Given the description of an element on the screen output the (x, y) to click on. 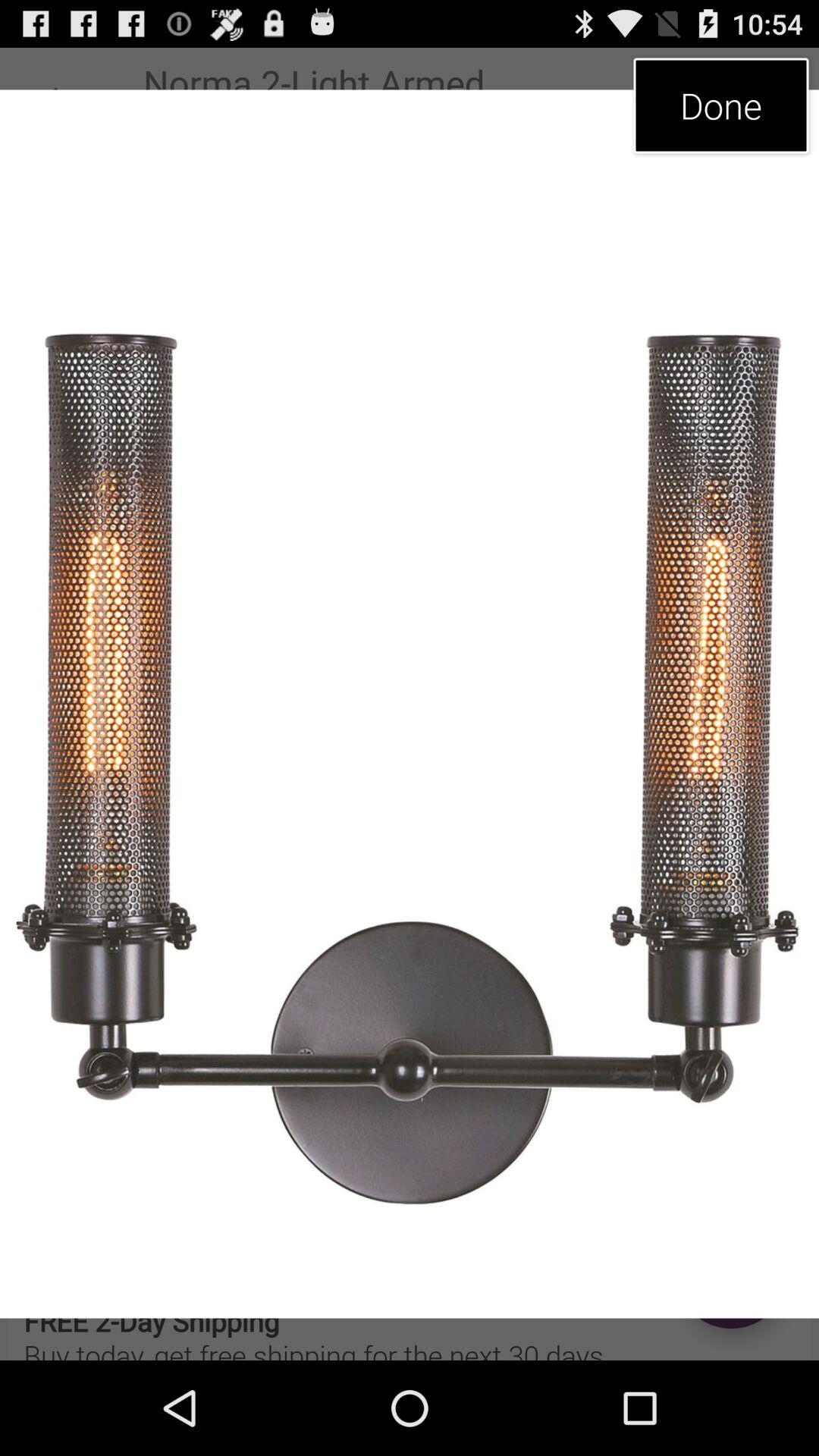
choose item at the center (409, 703)
